Given the description of an element on the screen output the (x, y) to click on. 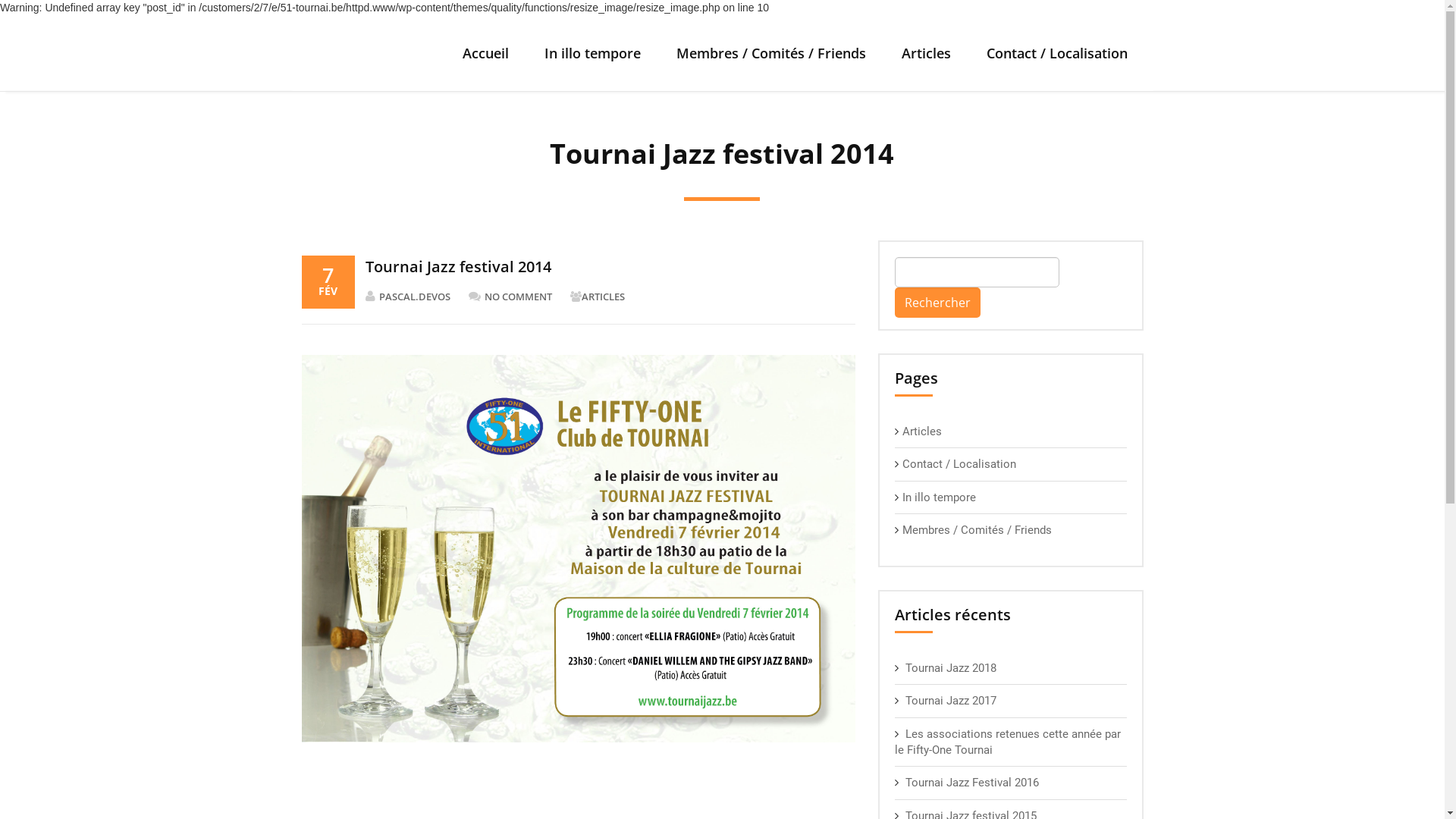
Rechercher Element type: text (937, 302)
In illo tempore Element type: text (591, 52)
Tournai Jazz 2017 Element type: text (950, 700)
Accueil Element type: text (484, 52)
Tournai Jazz 2018 Element type: text (950, 667)
ARTICLES Element type: text (610, 296)
Tournai Jazz Festival 2016 Element type: text (971, 782)
Contact / Localisation Element type: text (1057, 52)
Articles Element type: text (921, 431)
Contact / Localisation Element type: text (959, 463)
In illo tempore Element type: text (938, 497)
PASCAL.DEVOS Element type: text (415, 296)
Tournai Jazz festival 2014 Element type: text (458, 266)
NO COMMENT Element type: text (517, 296)
Articles Element type: text (926, 52)
